Given the description of an element on the screen output the (x, y) to click on. 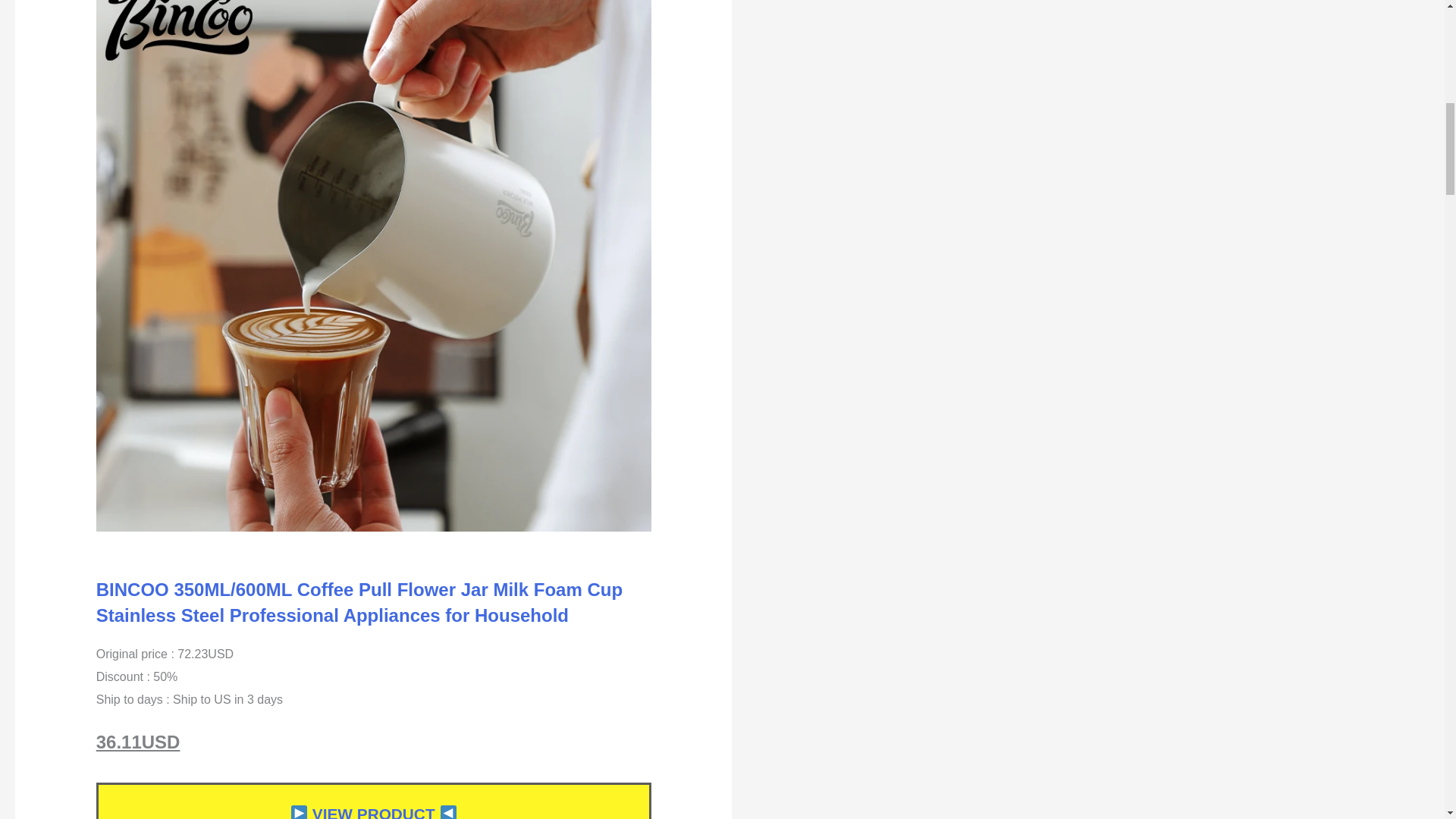
VIEW PRODUCT (373, 812)
